Given the description of an element on the screen output the (x, y) to click on. 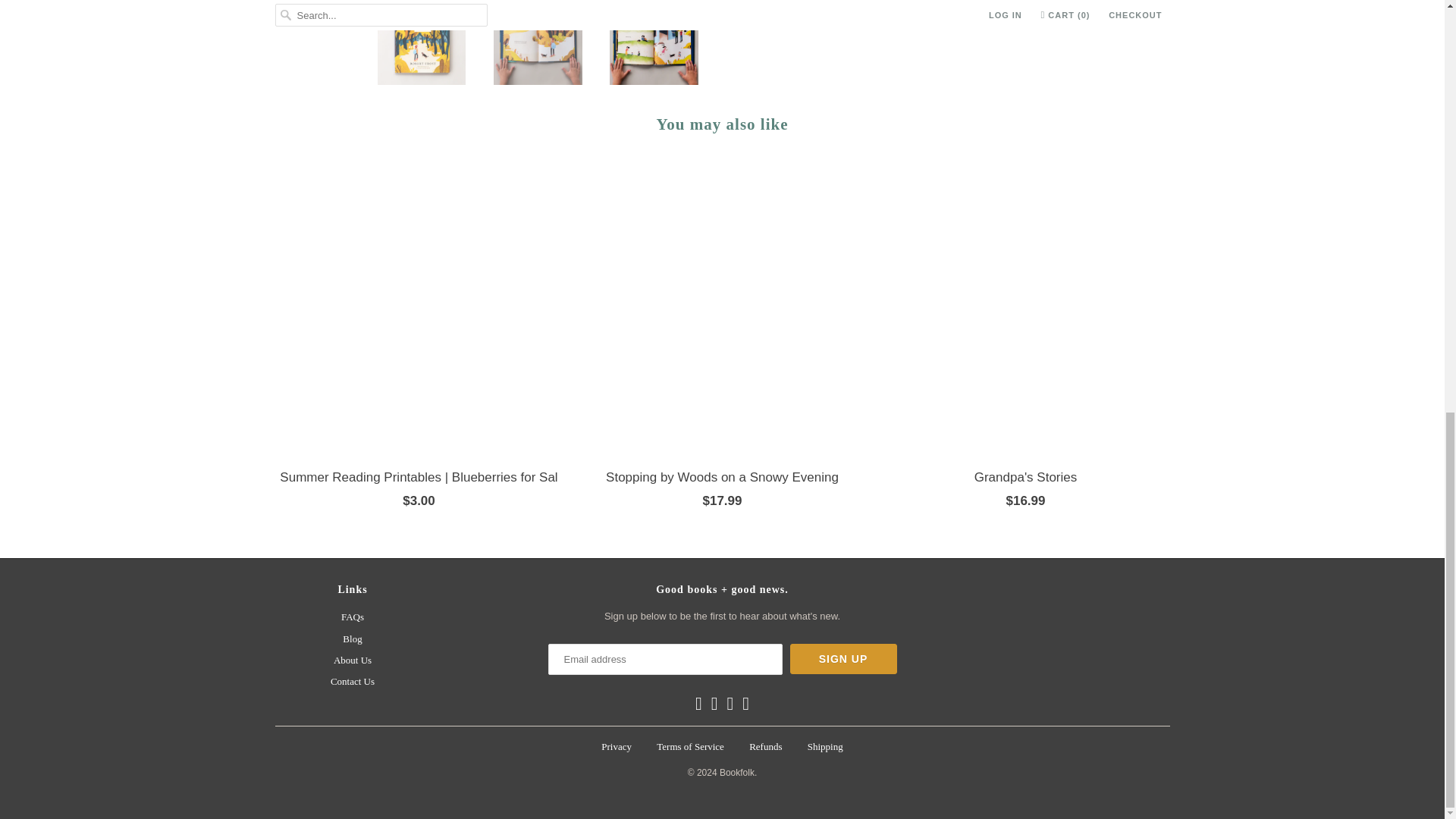
FAQs (352, 616)
Sign Up (843, 658)
Email Bookfolk (745, 703)
Bookfolk on Instagram (730, 703)
Bookfolk on Pinterest (714, 703)
Blog (351, 638)
Bookfolk on Facebook (698, 703)
